Given the description of an element on the screen output the (x, y) to click on. 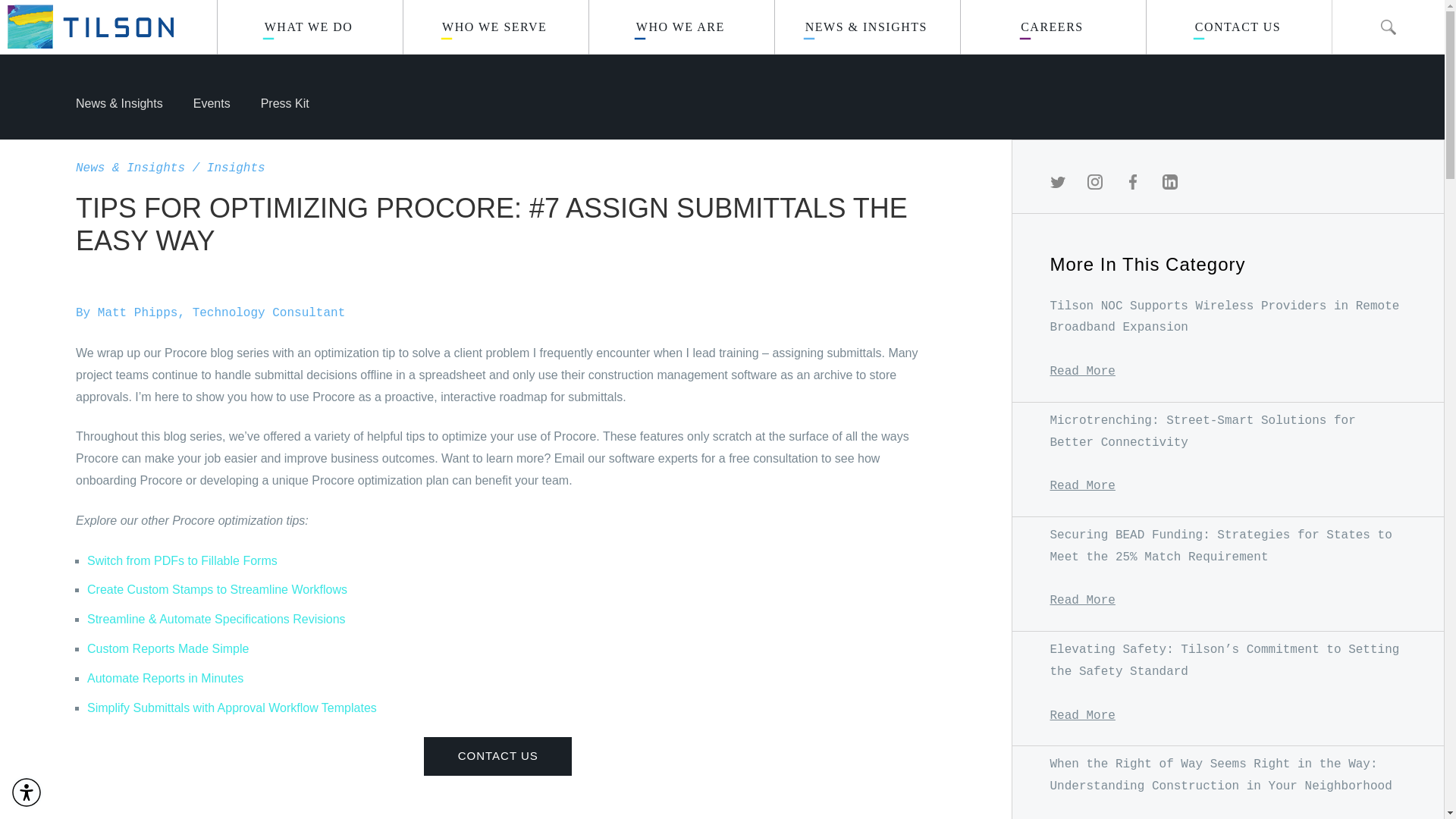
WHO WE SERVE (495, 27)
What We Do (309, 27)
Click logo for homepage (86, 27)
CONTACT US (1238, 27)
Accessibility Menu (26, 792)
WHO WE ARE (681, 27)
CAREERS (1052, 27)
WHAT WE DO (309, 27)
